Given the description of an element on the screen output the (x, y) to click on. 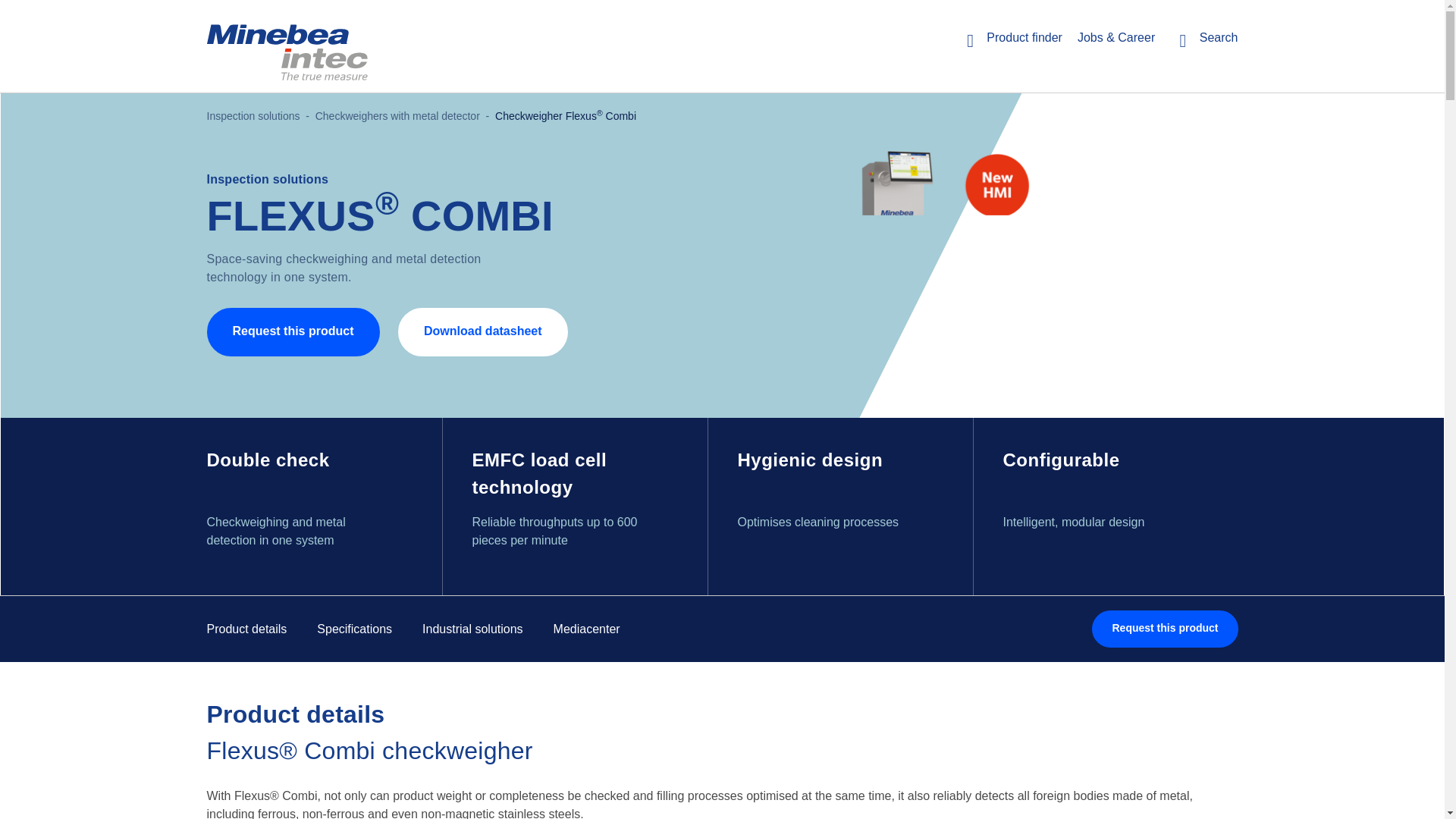
Specifications (354, 629)
Download datasheet (482, 331)
Product details (246, 629)
Download datasheet (482, 331)
Request this product (1164, 628)
Specifications (354, 629)
Industrial solutions (472, 629)
Mediacenter (586, 629)
Inspection solutions (252, 115)
Product details (246, 629)
Industrial solutions (472, 629)
Checkweighers with metal detector (397, 115)
Mediacenter (586, 629)
Request this product (1164, 628)
Request this product (292, 331)
